Given the description of an element on the screen output the (x, y) to click on. 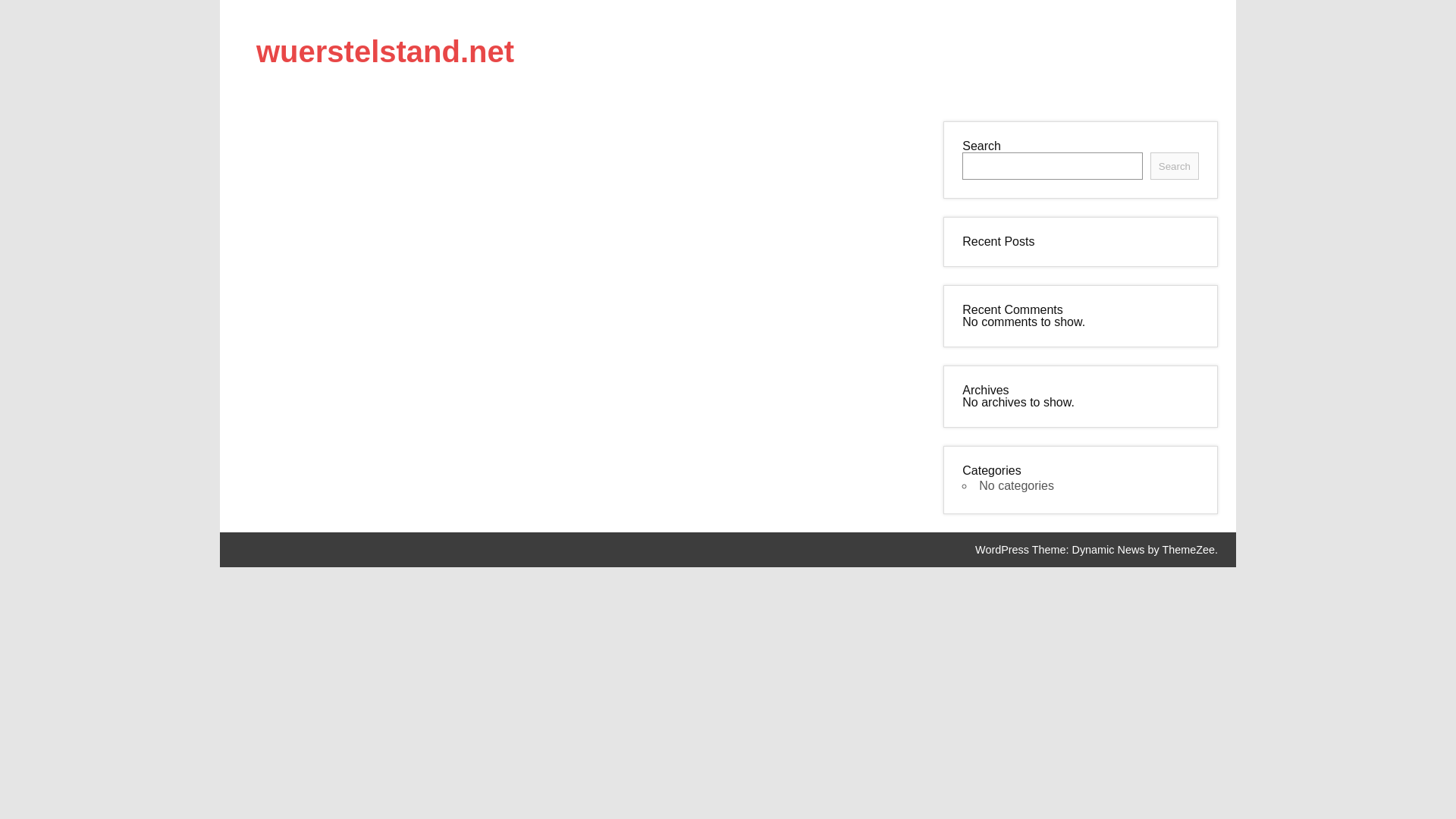
wuerstelstand.net (384, 51)
Search (1174, 165)
